Given the description of an element on the screen output the (x, y) to click on. 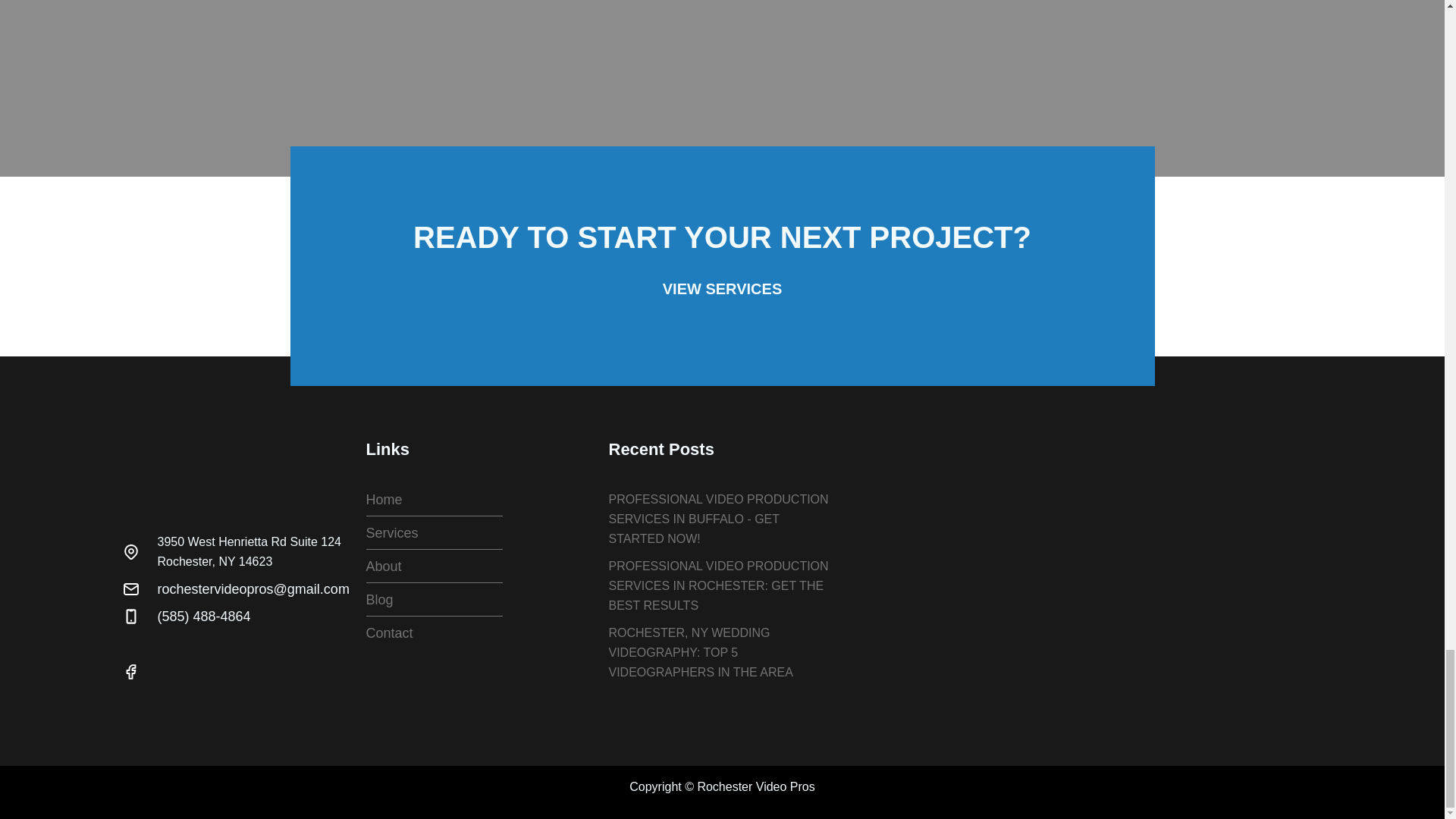
3950 West Henrietta Rd Suite 124 Rochester, NY 14623 (1085, 560)
